Given the description of an element on the screen output the (x, y) to click on. 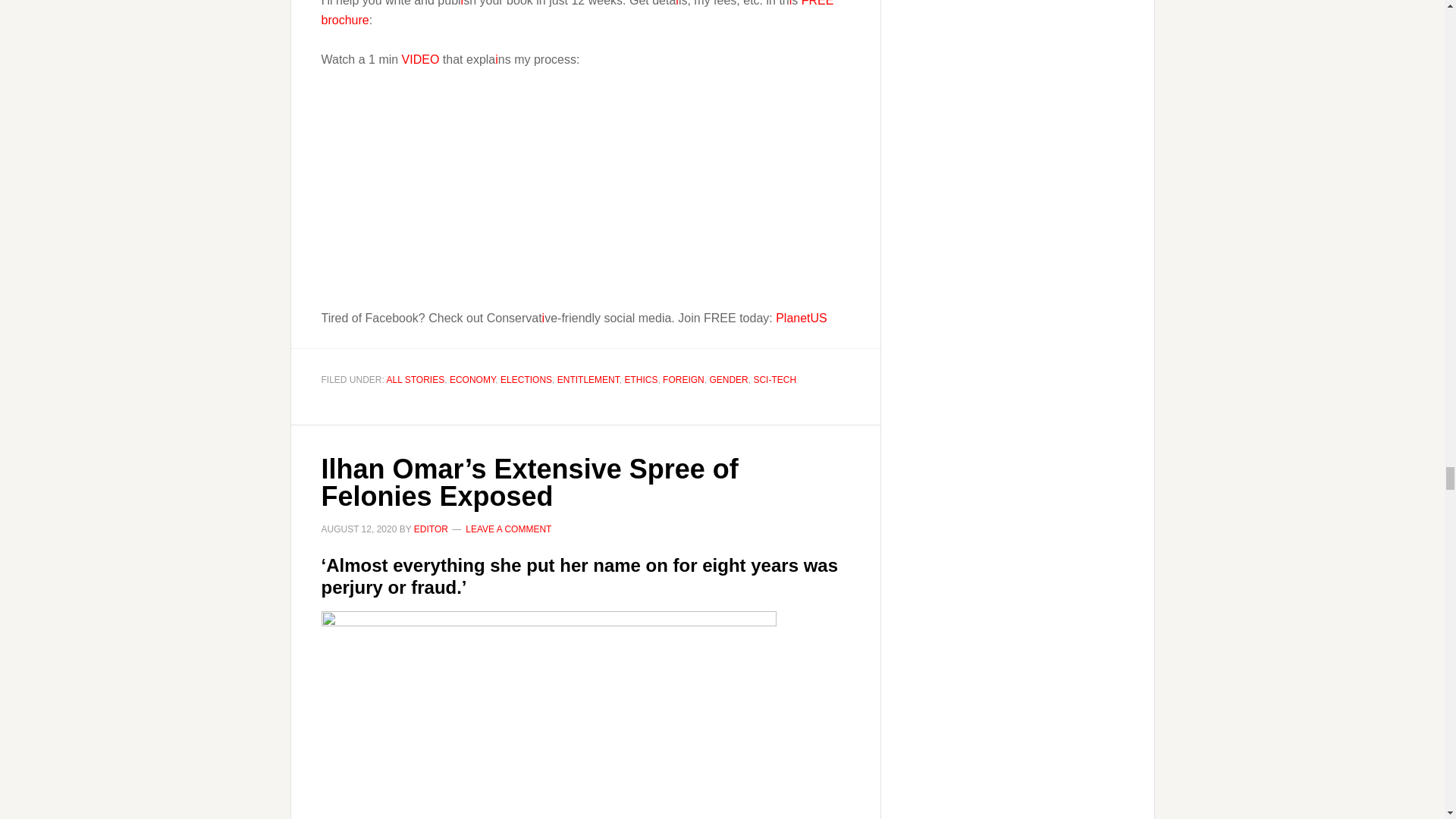
Your Book Makes You the Expert (510, 195)
